Given the description of an element on the screen output the (x, y) to click on. 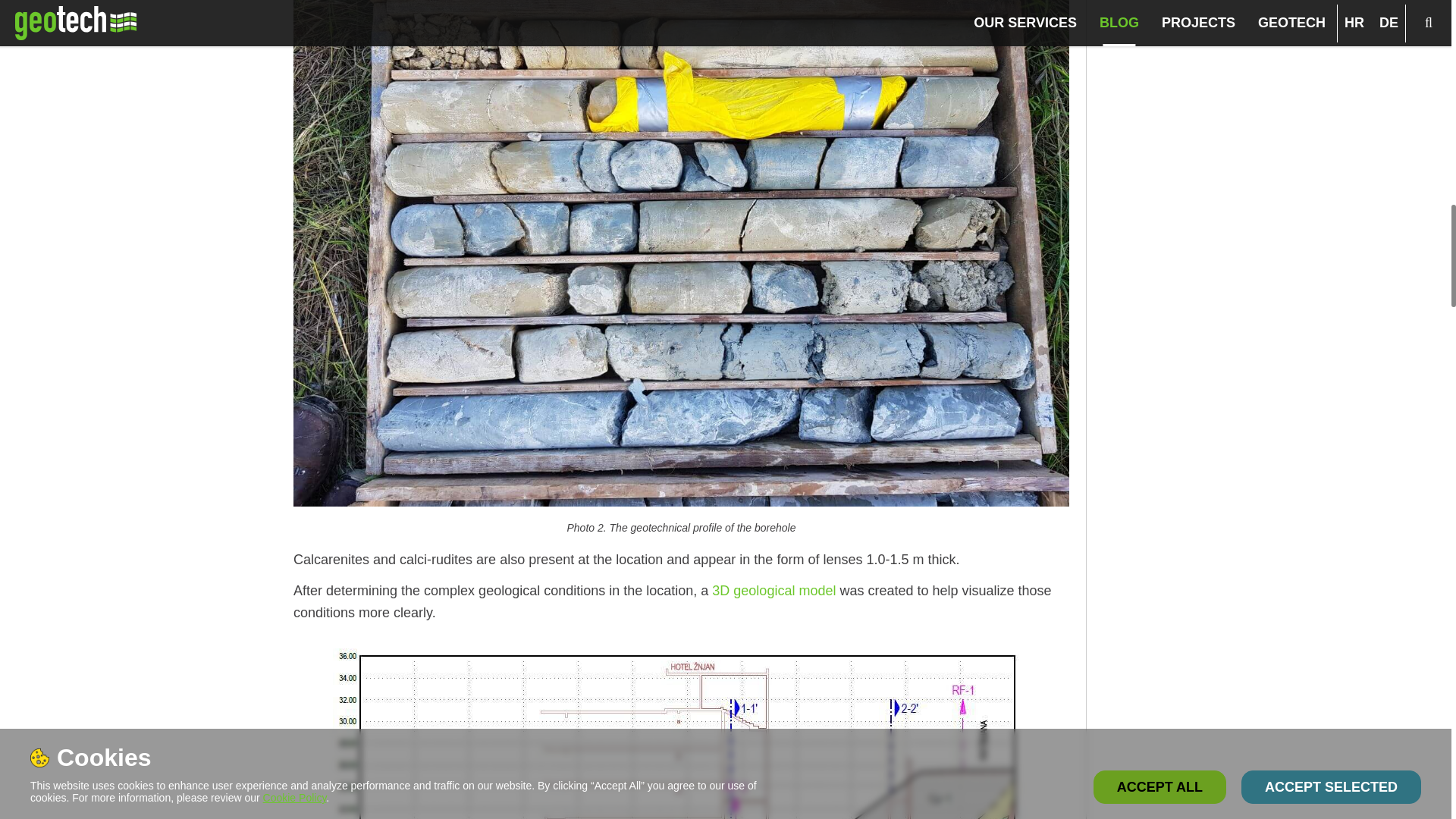
3D geological model (775, 590)
